Given the description of an element on the screen output the (x, y) to click on. 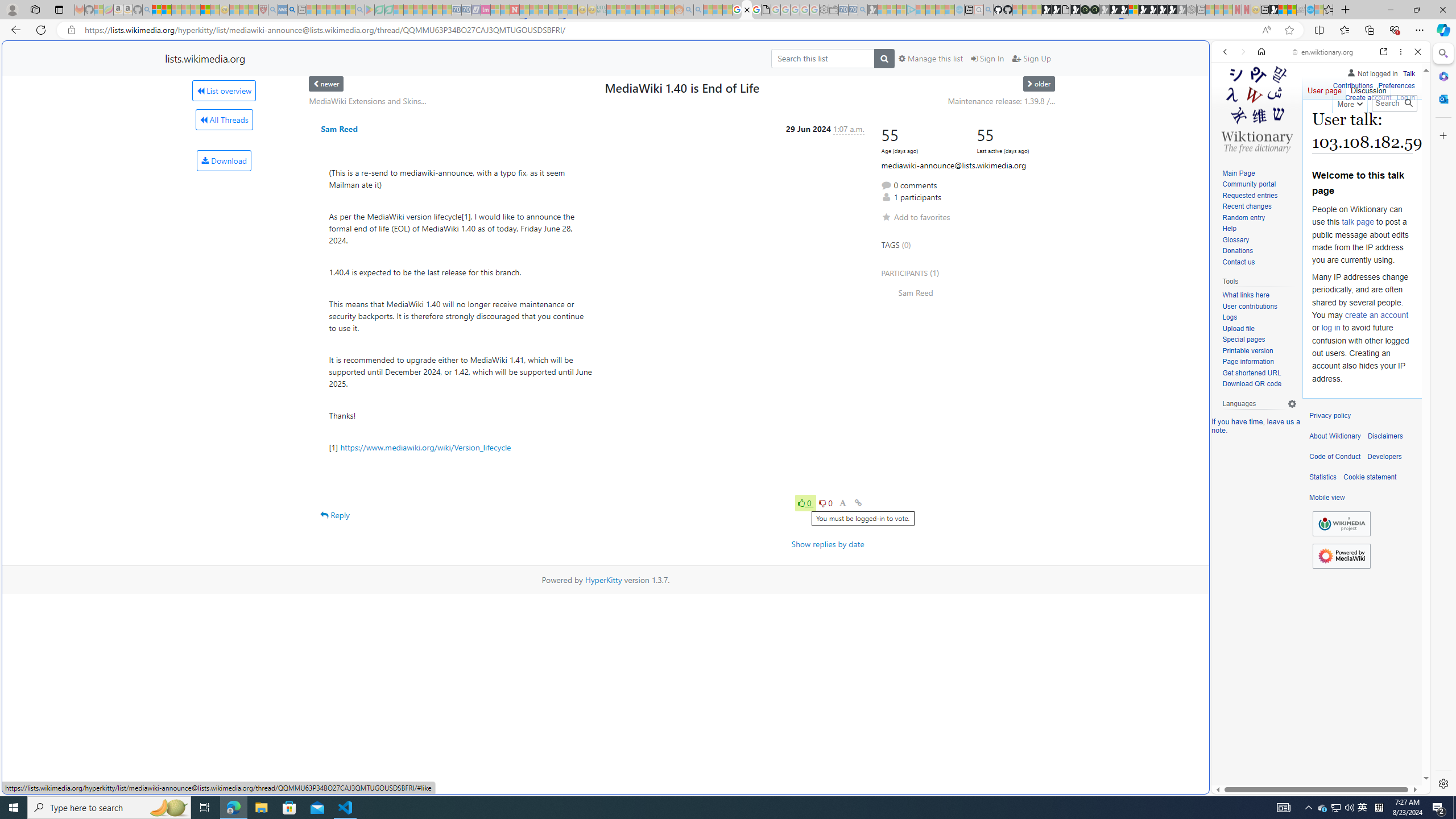
Wikimedia Foundation (1341, 523)
Services - Maintenance | Sky Blue Bikes - Sky Blue Bikes (1309, 9)
If you have time, leave us a note. (1255, 425)
